Given the description of an element on the screen output the (x, y) to click on. 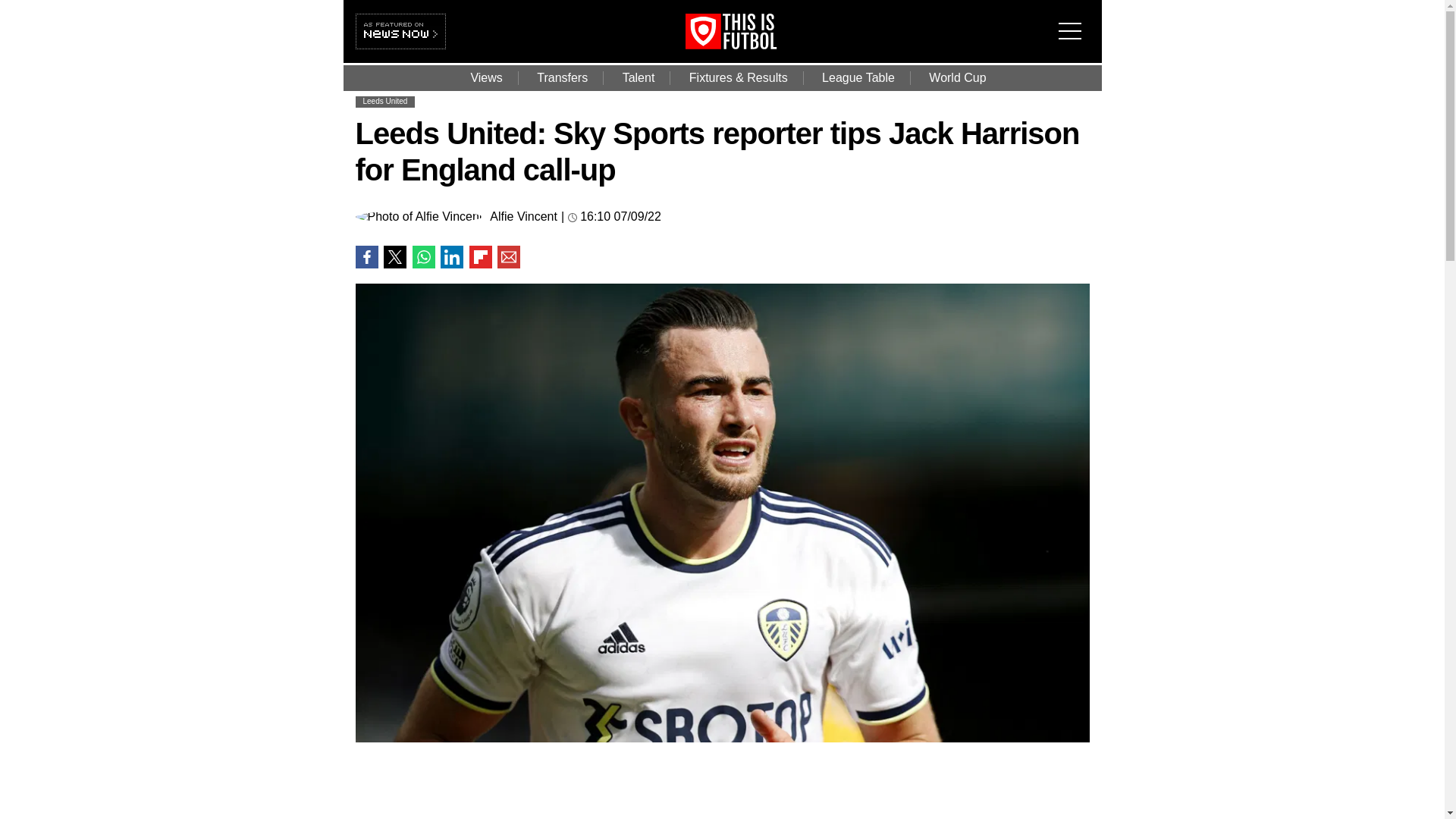
share on Email (508, 256)
share on LinkedIn (452, 256)
Alfie Vincent (523, 216)
Views (485, 78)
Menu (1074, 21)
League Table (858, 78)
Transfers (561, 78)
World Cup (957, 78)
Back to the homepage (751, 44)
Leeds United (384, 101)
share on Facebook (366, 256)
share on Twitter (395, 256)
Talent (638, 78)
share on WhatsApp (423, 256)
share on Flipboard (480, 256)
